Given the description of an element on the screen output the (x, y) to click on. 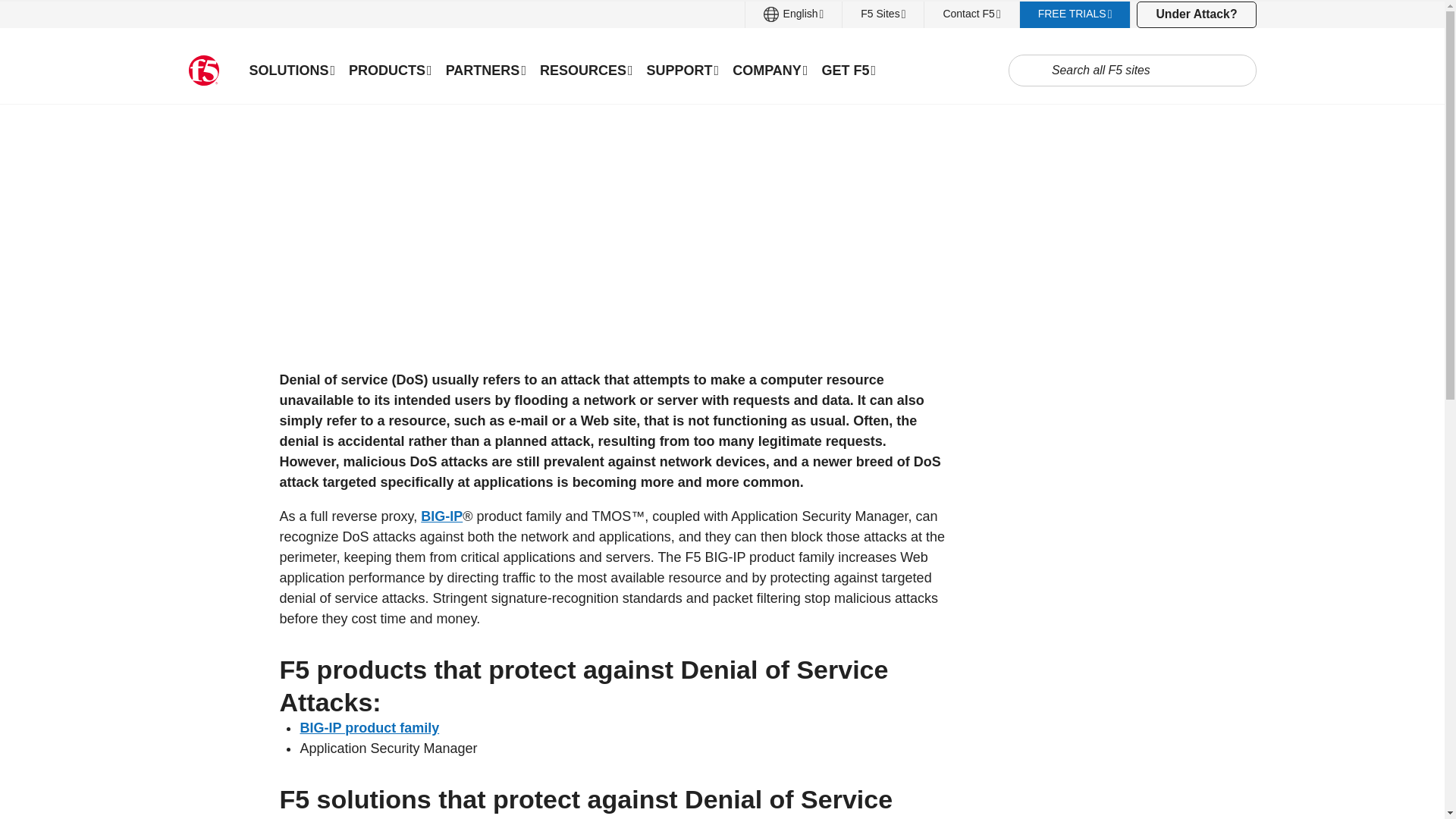
BIG-IP (441, 516)
Contact F5 (970, 13)
PARTNERS (485, 69)
BIG-IP (441, 516)
F5 (202, 70)
FREE TRIALS (1075, 13)
English (794, 13)
COMPANY (769, 69)
BIG-IP (369, 727)
Under Attack? (1196, 14)
F5 Sites (883, 13)
SUPPORT (683, 69)
GET F5 (847, 69)
BIG-IP product family (369, 727)
PRODUCTS (390, 69)
